Given the description of an element on the screen output the (x, y) to click on. 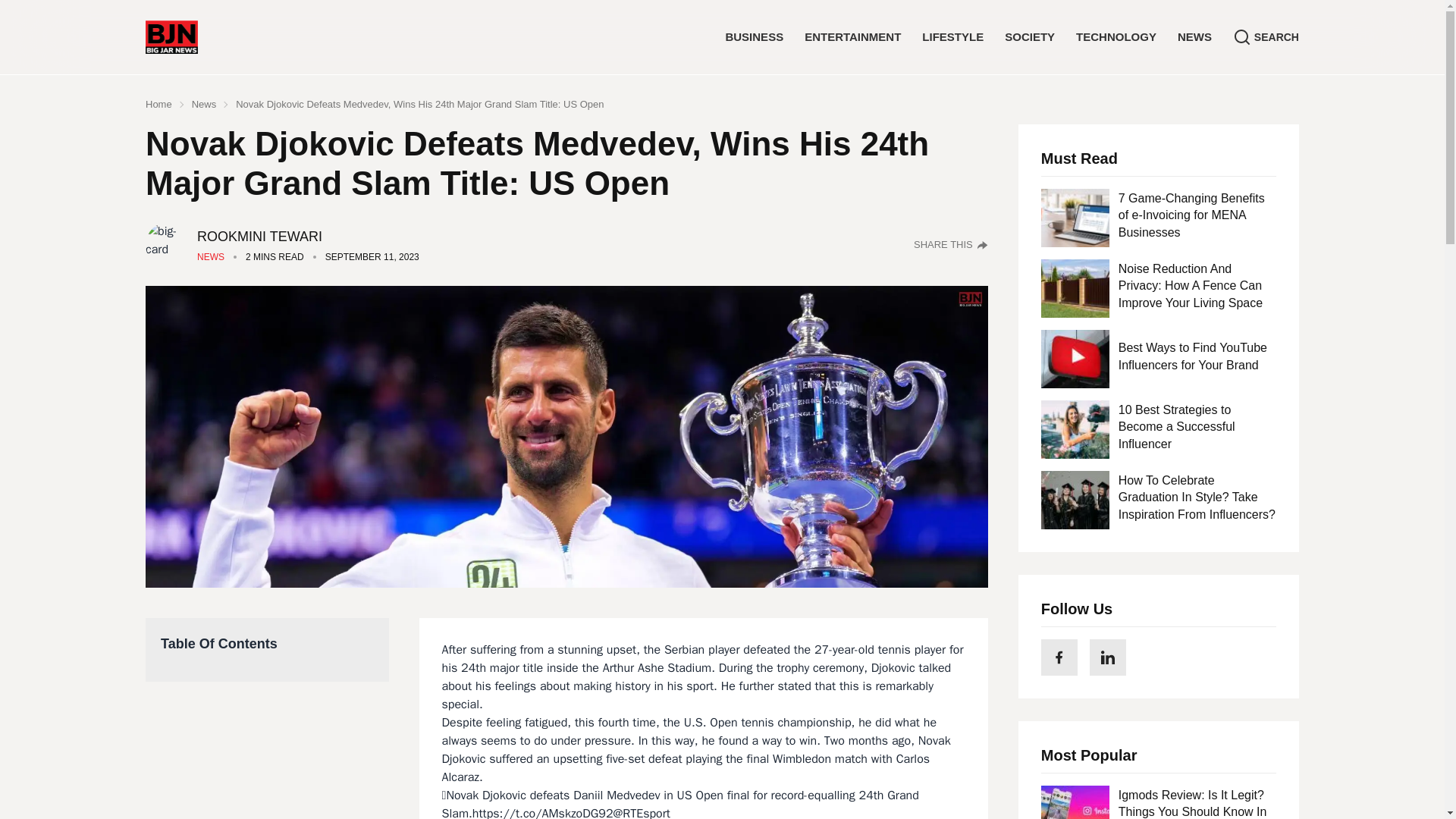
News (204, 104)
TECHNOLOGY (1115, 37)
SEARCH (1266, 36)
BUSINESS (754, 37)
SOCIETY (1029, 37)
News (210, 256)
LIFESTYLE (952, 37)
NEWS (1194, 37)
ENTERTAINMENT (853, 37)
